Given the description of an element on the screen output the (x, y) to click on. 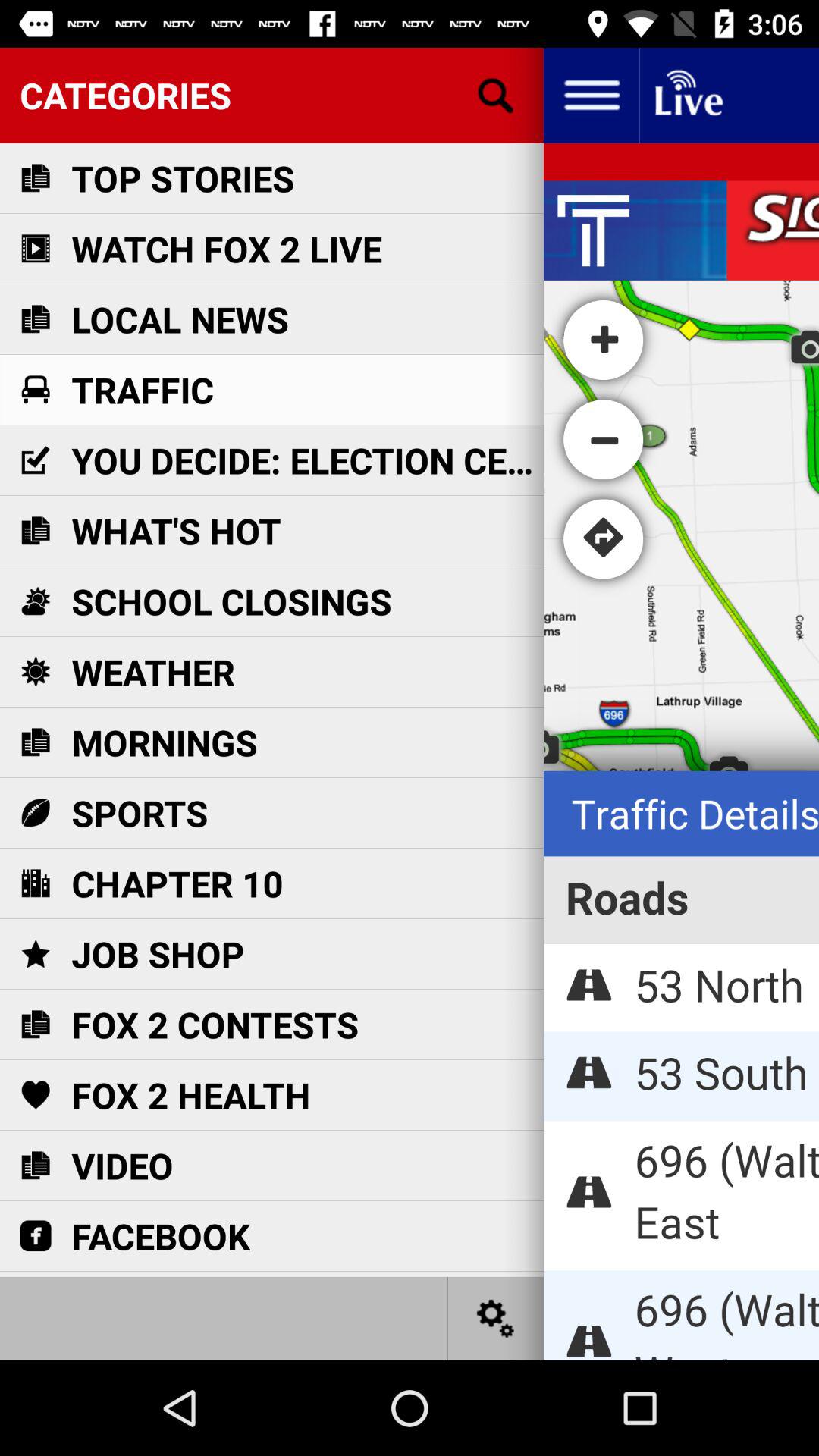
search the option (495, 95)
